Given the description of an element on the screen output the (x, y) to click on. 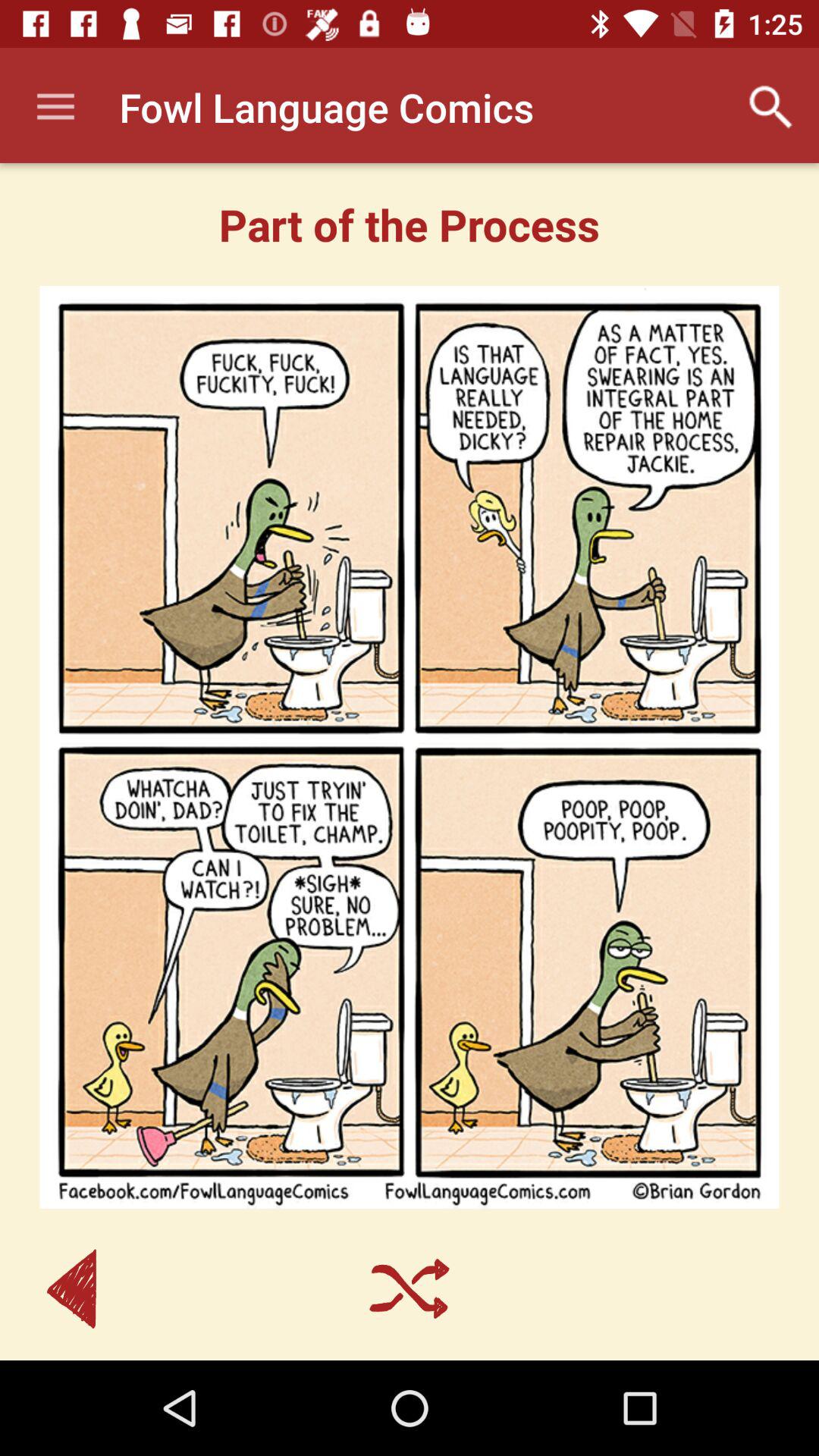
launch the item to the right of the fowl language comics app (771, 107)
